Given the description of an element on the screen output the (x, y) to click on. 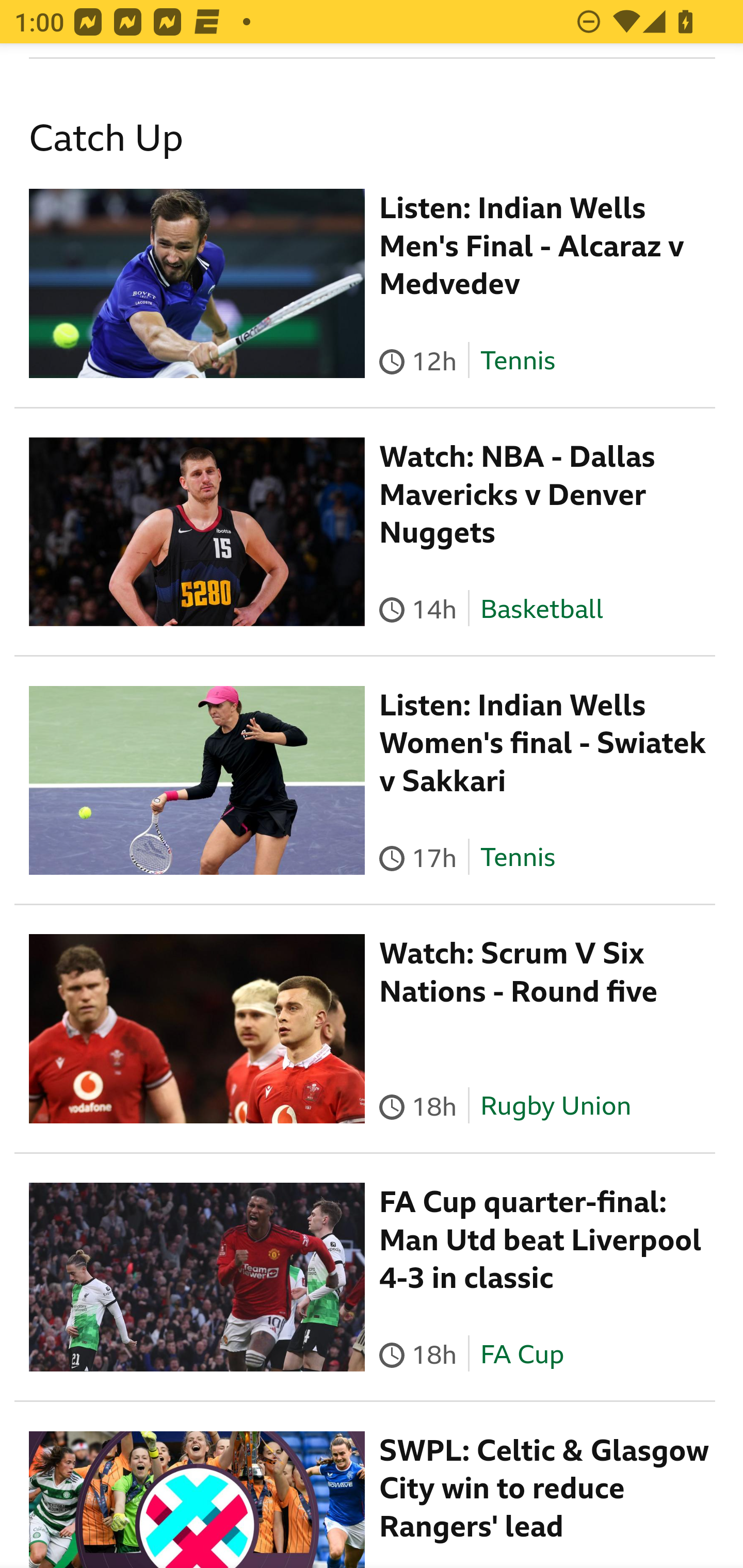
Tennis (517, 362)
Watch: NBA - Dallas Mavericks v Denver Nuggets (517, 495)
Basketball (541, 609)
Tennis (517, 858)
Watch: Scrum V Six Nations - Round five (518, 973)
Rugby Union (555, 1106)
FA Cup (521, 1355)
